Given the description of an element on the screen output the (x, y) to click on. 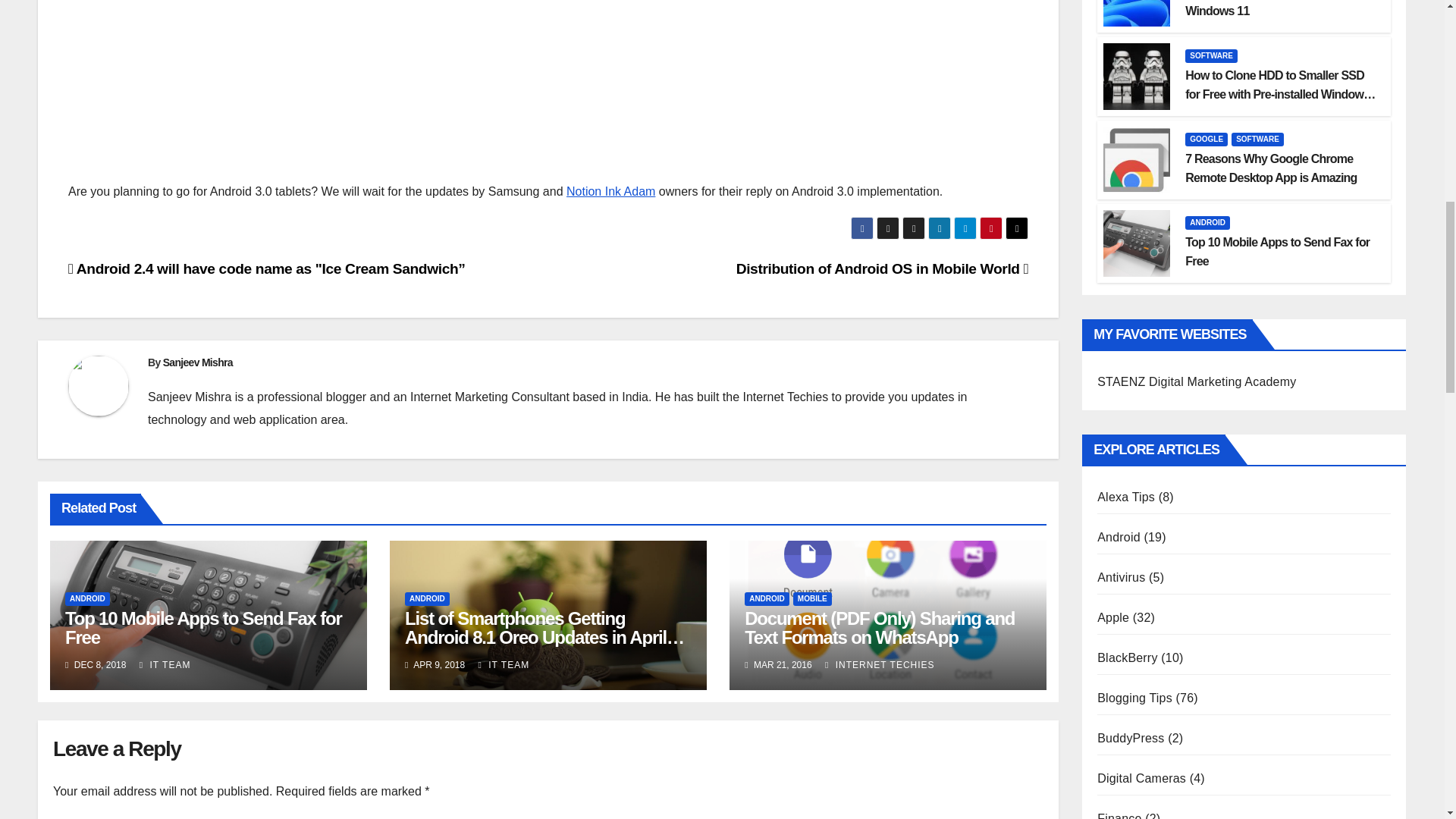
ANDROID (87, 599)
Learn Digital Marketing Online or in Classroom (1196, 381)
Advertisement (547, 83)
Permalink to: Top 10 Mobile Apps to Send Fax for Free (203, 627)
Notion Ink Adam (610, 191)
Sanjeev Mishra (197, 362)
Distribution of Android OS in Mobile World (882, 268)
